Given the description of an element on the screen output the (x, y) to click on. 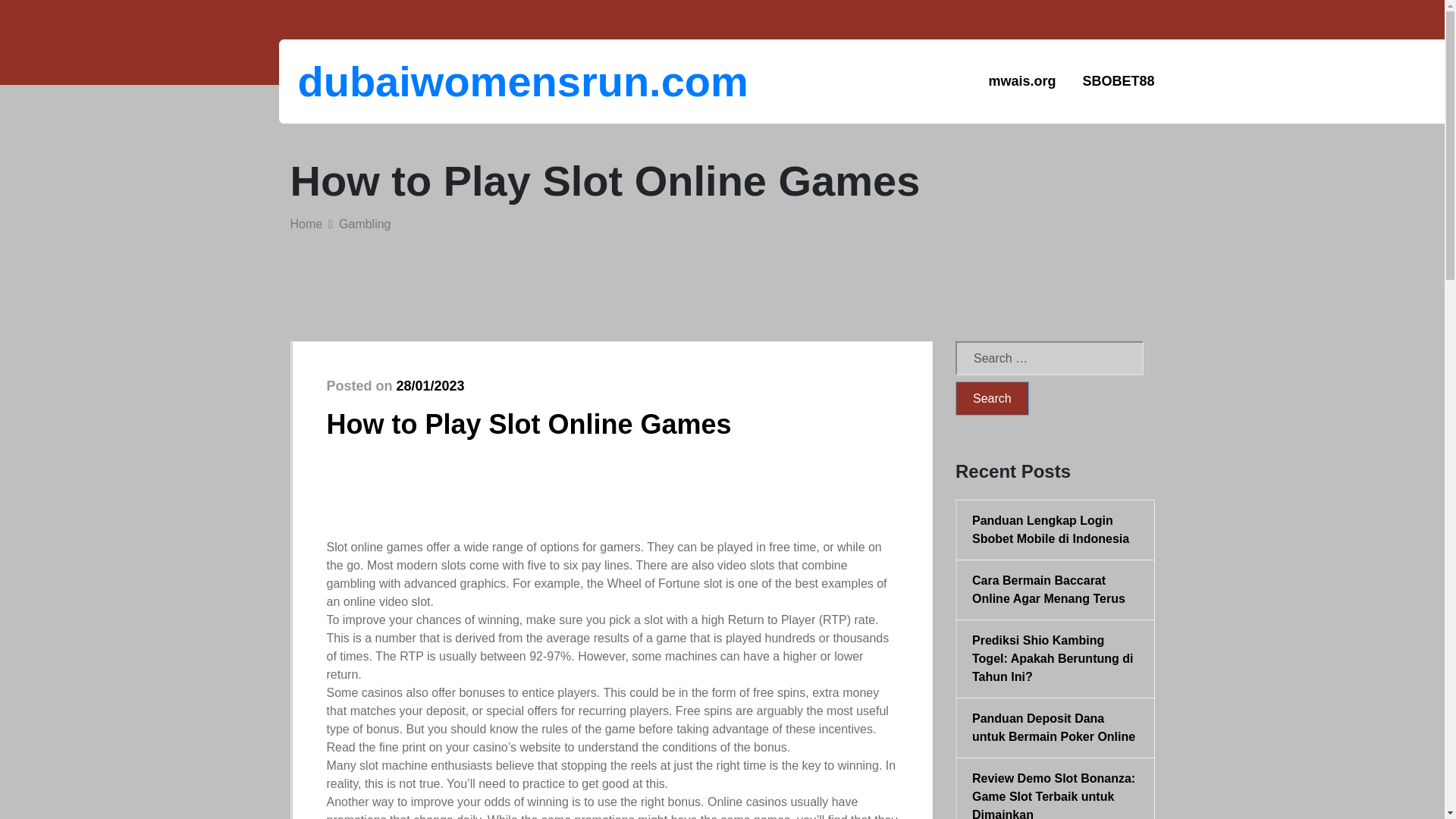
Review Demo Slot Bonanza: Game Slot Terbaik untuk Dimainkan (1055, 794)
Search (992, 398)
Search (992, 398)
Panduan Deposit Dana untuk Bermain Poker Online (1055, 728)
Panduan Lengkap Login Sbobet Mobile di Indonesia (1055, 529)
Search (992, 398)
SBOBET88 (1117, 81)
Gambling (364, 223)
mwais.org (1021, 81)
mwais.org (1021, 81)
dubaiwomensrun.com (376, 81)
How to Play Slot Online Games (528, 423)
Prediksi Shio Kambing Togel: Apakah Beruntung di Tahun Ini? (1055, 658)
Home (305, 223)
SBOBET88 (1117, 81)
